Given the description of an element on the screen output the (x, y) to click on. 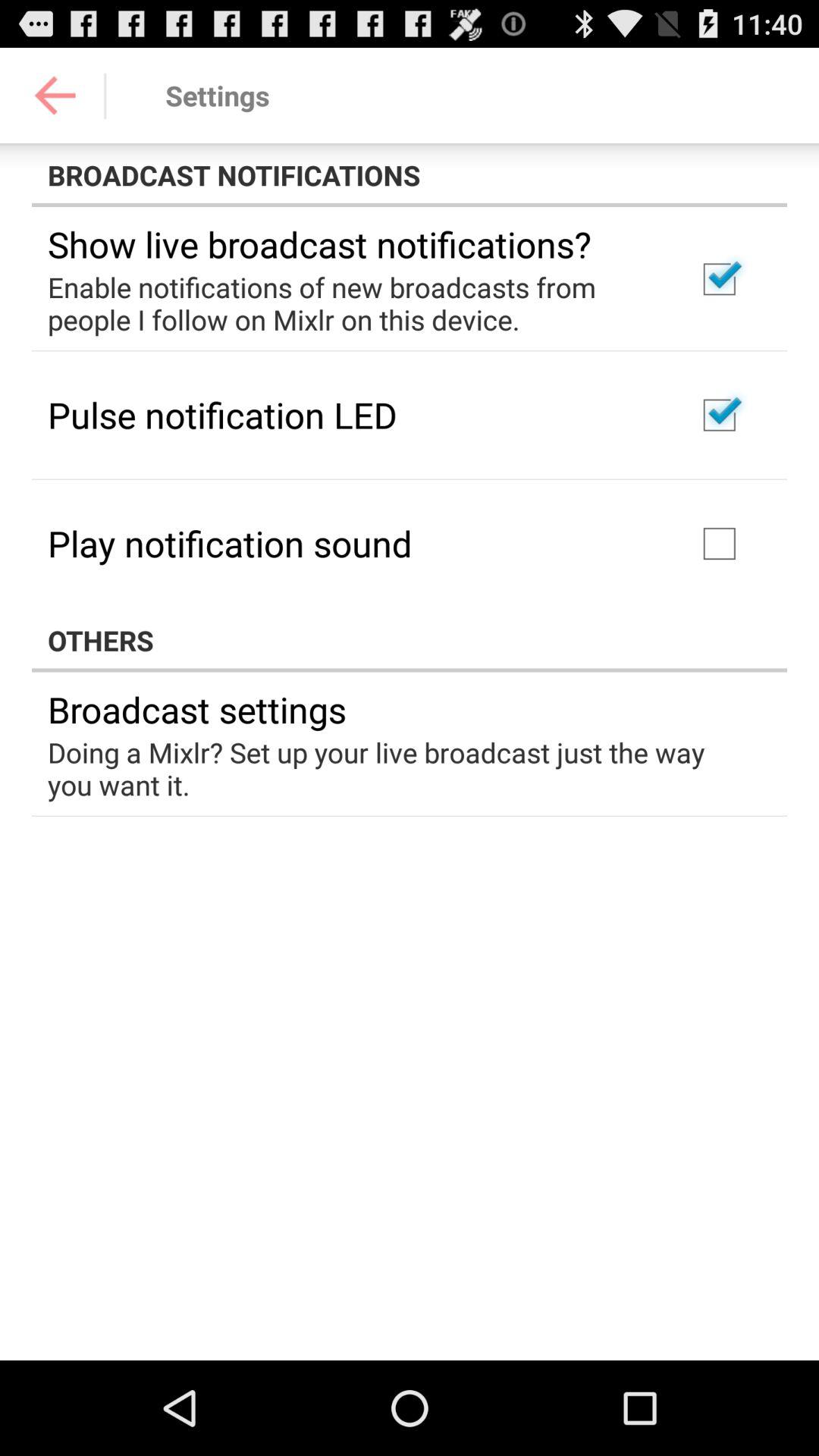
press item below pulse notification led item (229, 543)
